Given the description of an element on the screen output the (x, y) to click on. 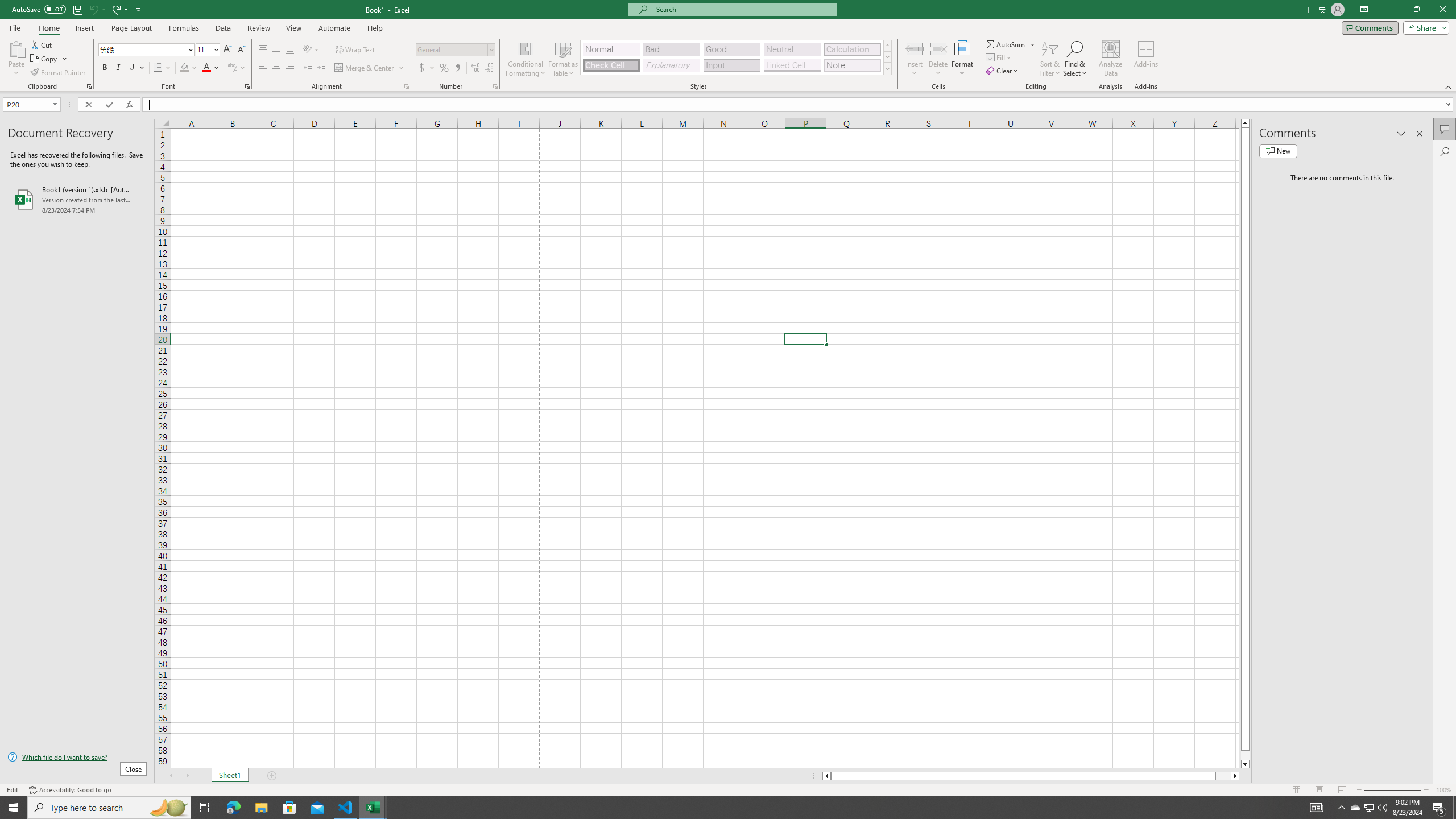
Show Phonetic Field (231, 67)
Italic (118, 67)
Home (48, 28)
View (293, 28)
Format as Table (563, 58)
Bottom Align (290, 49)
Clear (1003, 69)
Good (731, 49)
AutoSum (1011, 44)
Delete (938, 58)
Delete Cells... (938, 48)
Paste (16, 58)
